Given the description of an element on the screen output the (x, y) to click on. 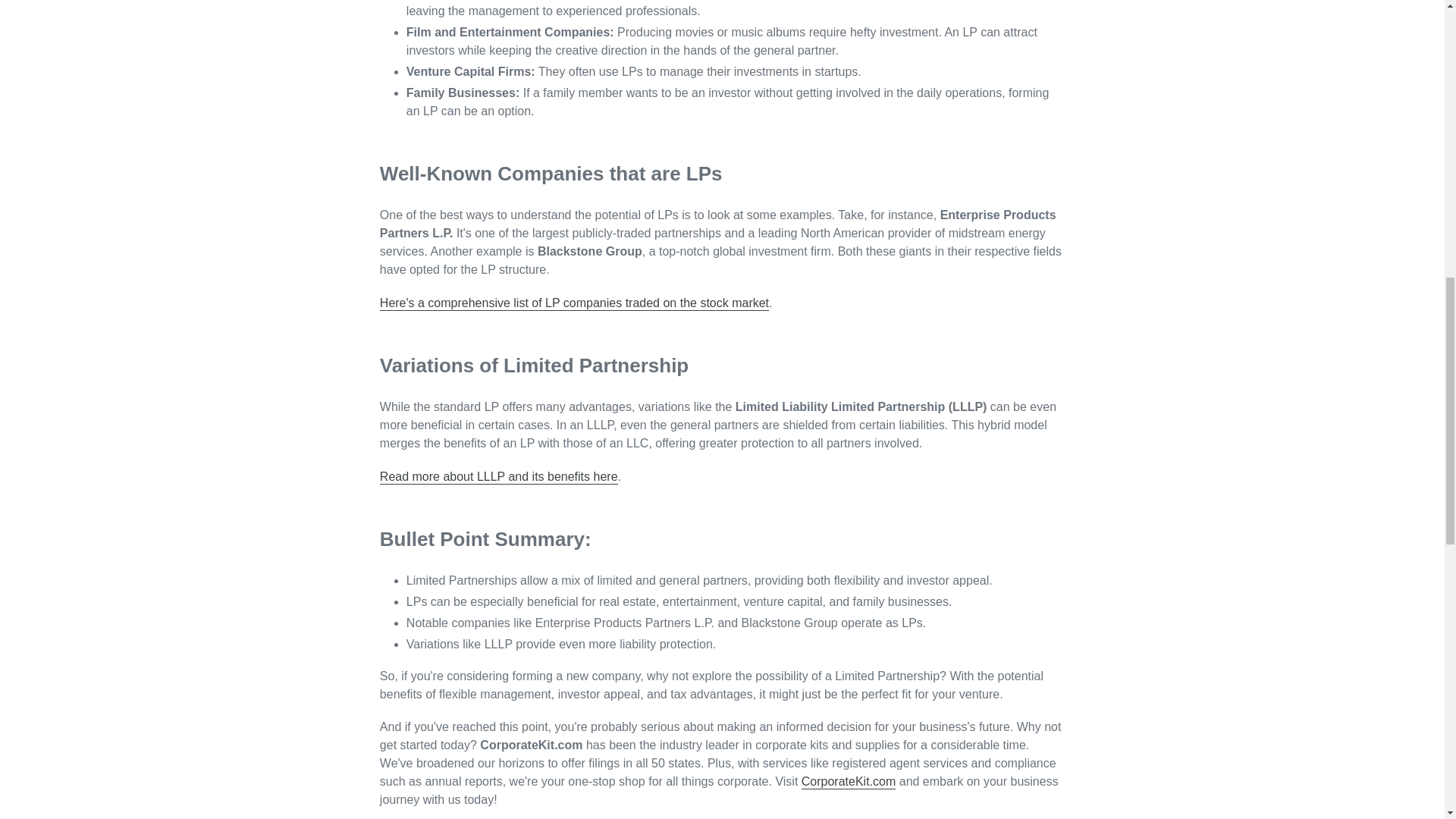
Read more about LLLP and its benefits here (498, 477)
CorporateKit.com (849, 781)
